Given the description of an element on the screen output the (x, y) to click on. 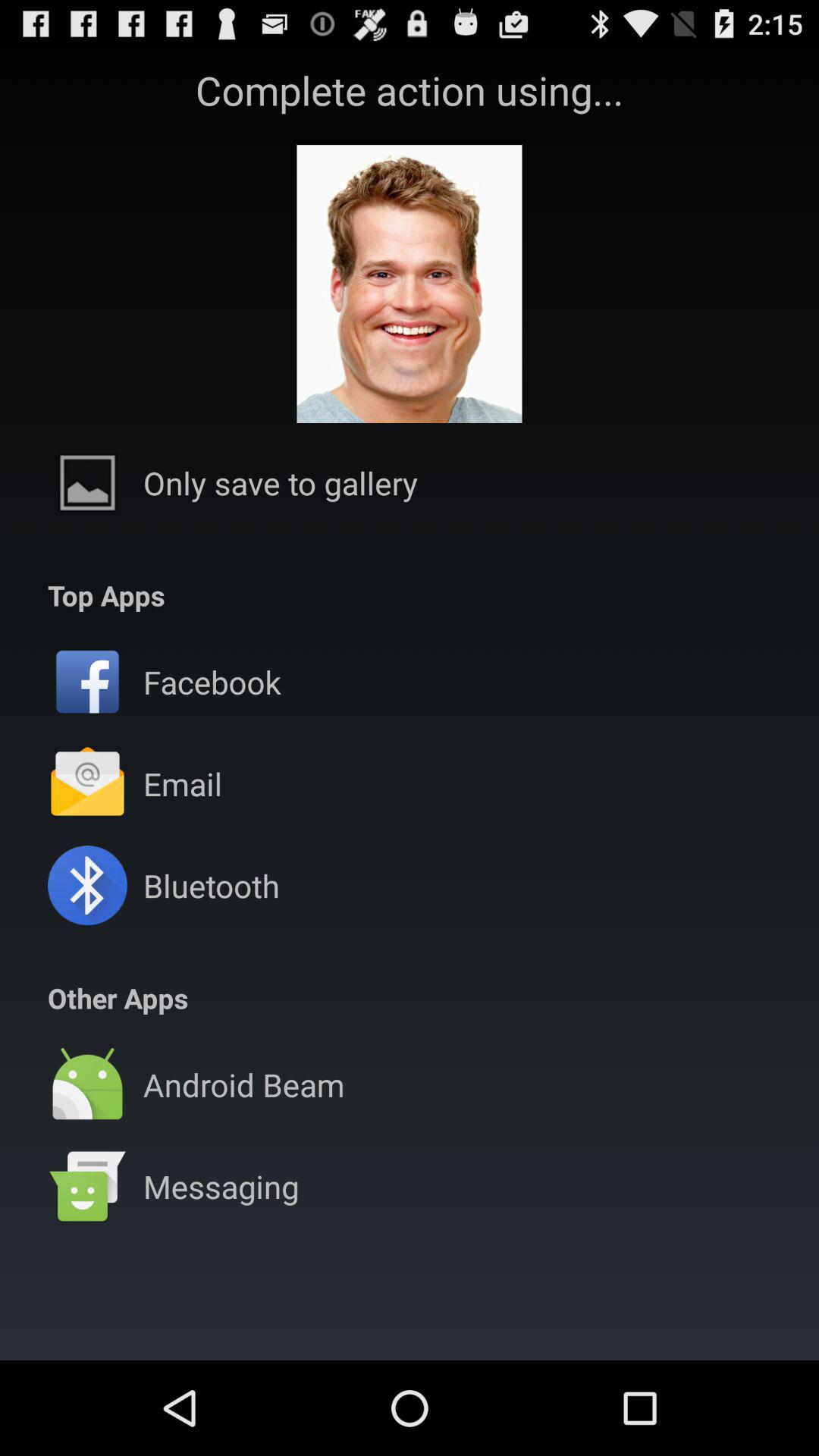
turn on only save to app (280, 482)
